Given the description of an element on the screen output the (x, y) to click on. 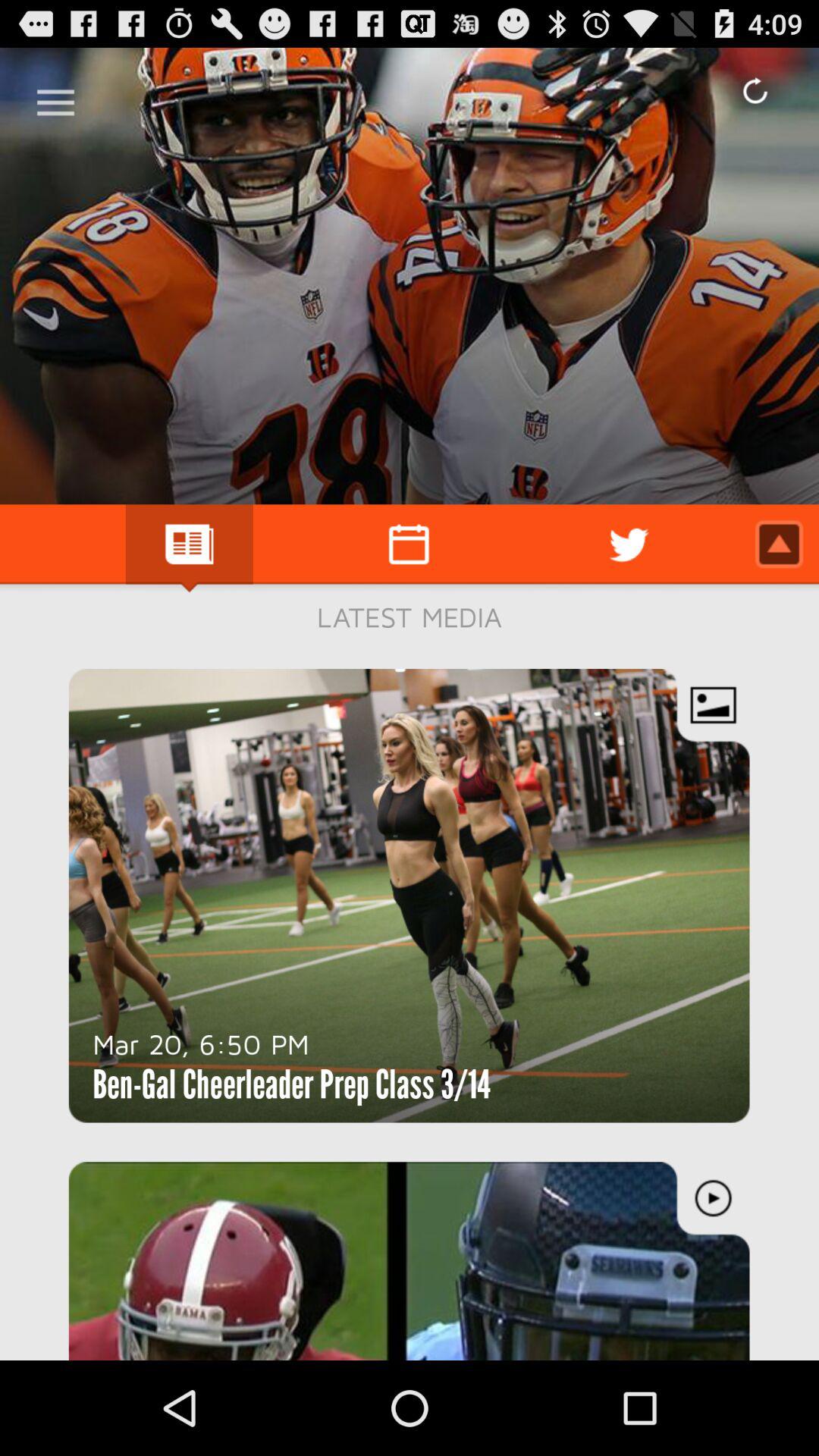
choose the ben gal cheerleader item (291, 1084)
